Given the description of an element on the screen output the (x, y) to click on. 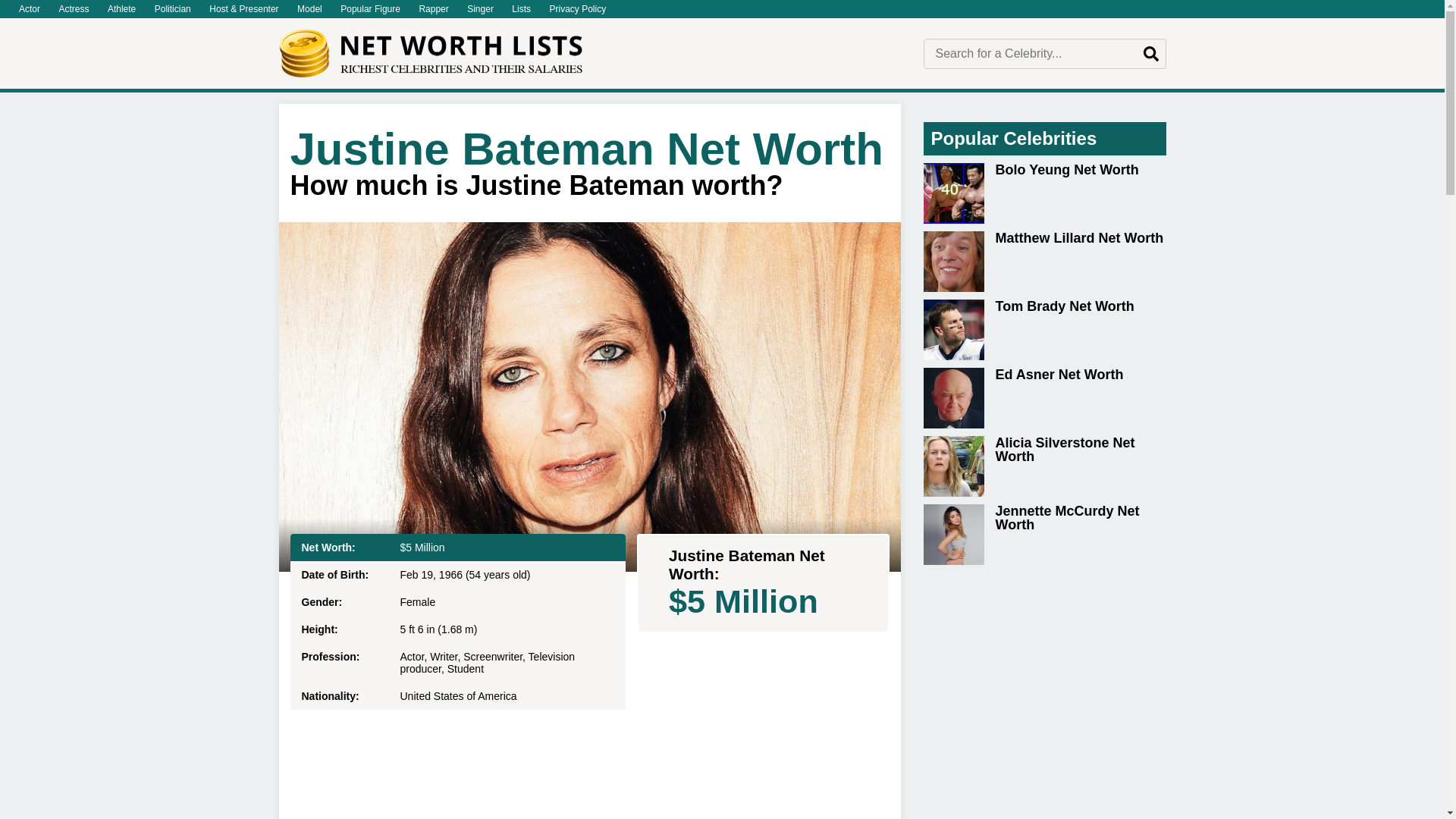
Bolo Yeung Net Worth (1044, 192)
Actor (29, 9)
Privacy Policy (576, 9)
Ed Asner Net Worth (1044, 397)
Popular Figure (370, 9)
Model (309, 9)
Tom Brady Net Worth (1044, 329)
Politician (172, 9)
Advertisement (1044, 695)
Actress (73, 9)
Singer (480, 9)
Lists (520, 9)
Alicia Silverstone Net Worth (1044, 465)
Matthew Lillard Net Worth (1044, 260)
Jennette McCurdy Net Worth (1044, 534)
